Given the description of an element on the screen output the (x, y) to click on. 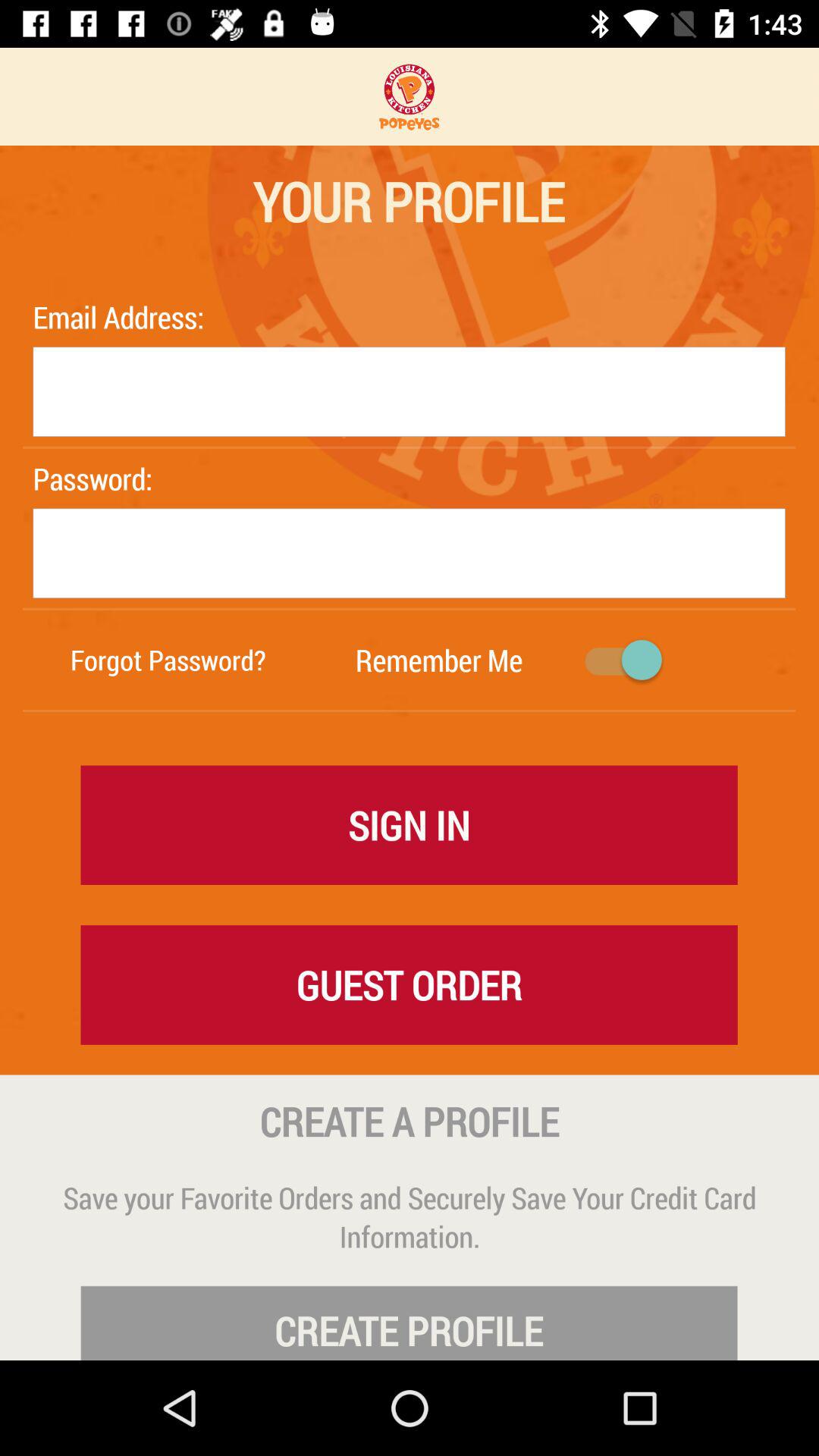
swipe to guest order icon (409, 984)
